Given the description of an element on the screen output the (x, y) to click on. 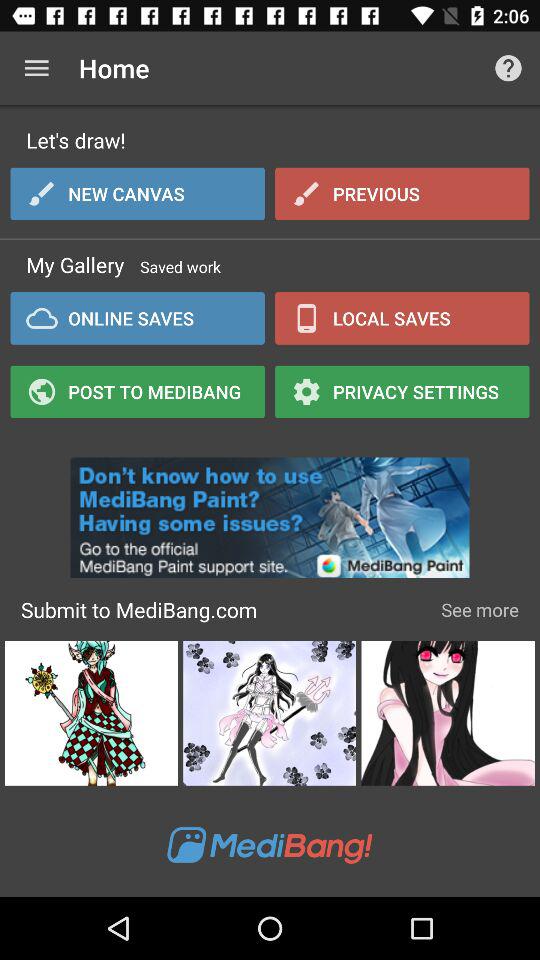
turn off item to the right of the online saves item (402, 318)
